Given the description of an element on the screen output the (x, y) to click on. 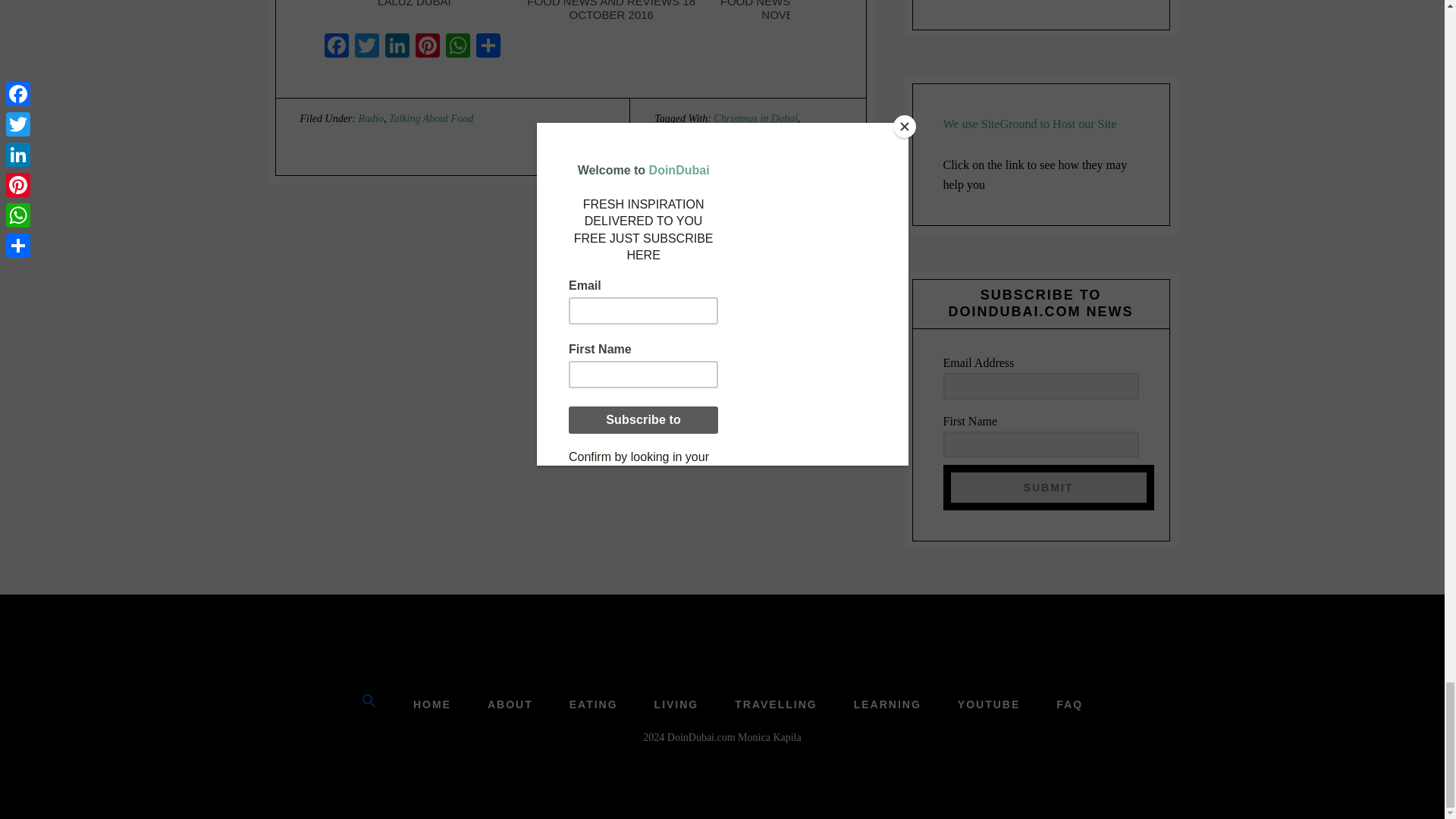
Facebook (336, 47)
Twitter (366, 47)
